Given the description of an element on the screen output the (x, y) to click on. 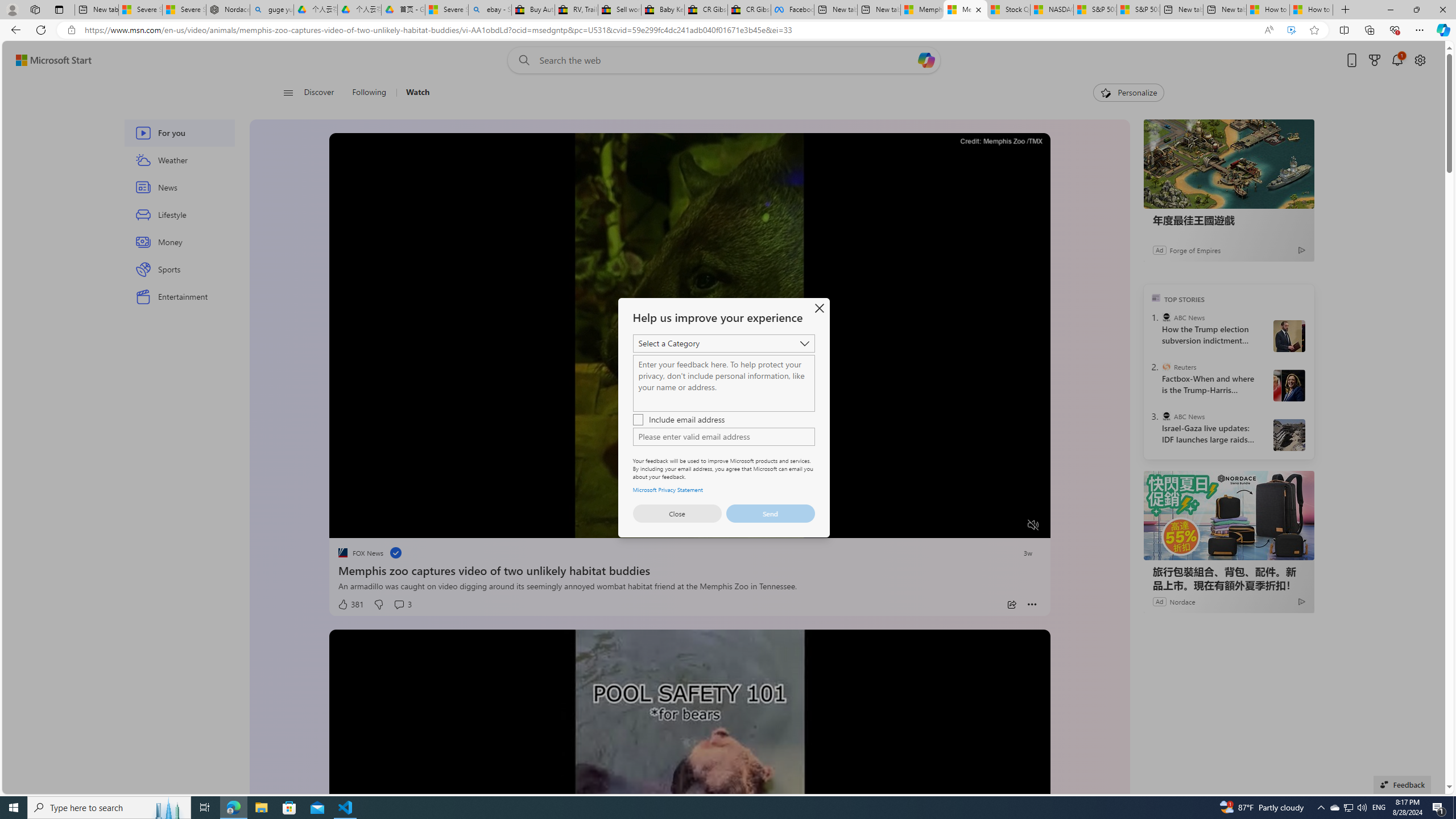
Include email address (723, 419)
